Given the description of an element on the screen output the (x, y) to click on. 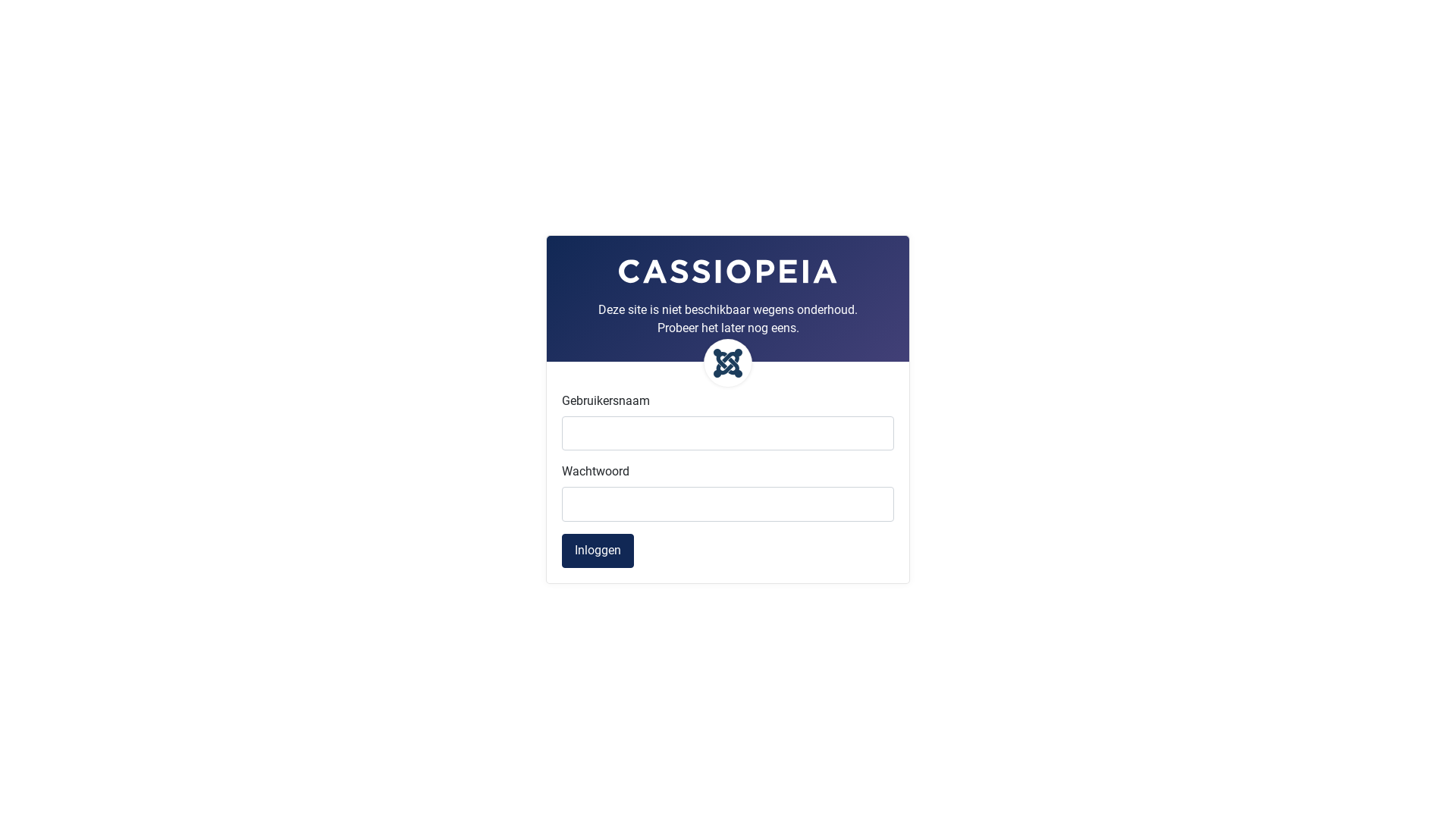
Inloggen Element type: text (597, 550)
